Given the description of an element on the screen output the (x, y) to click on. 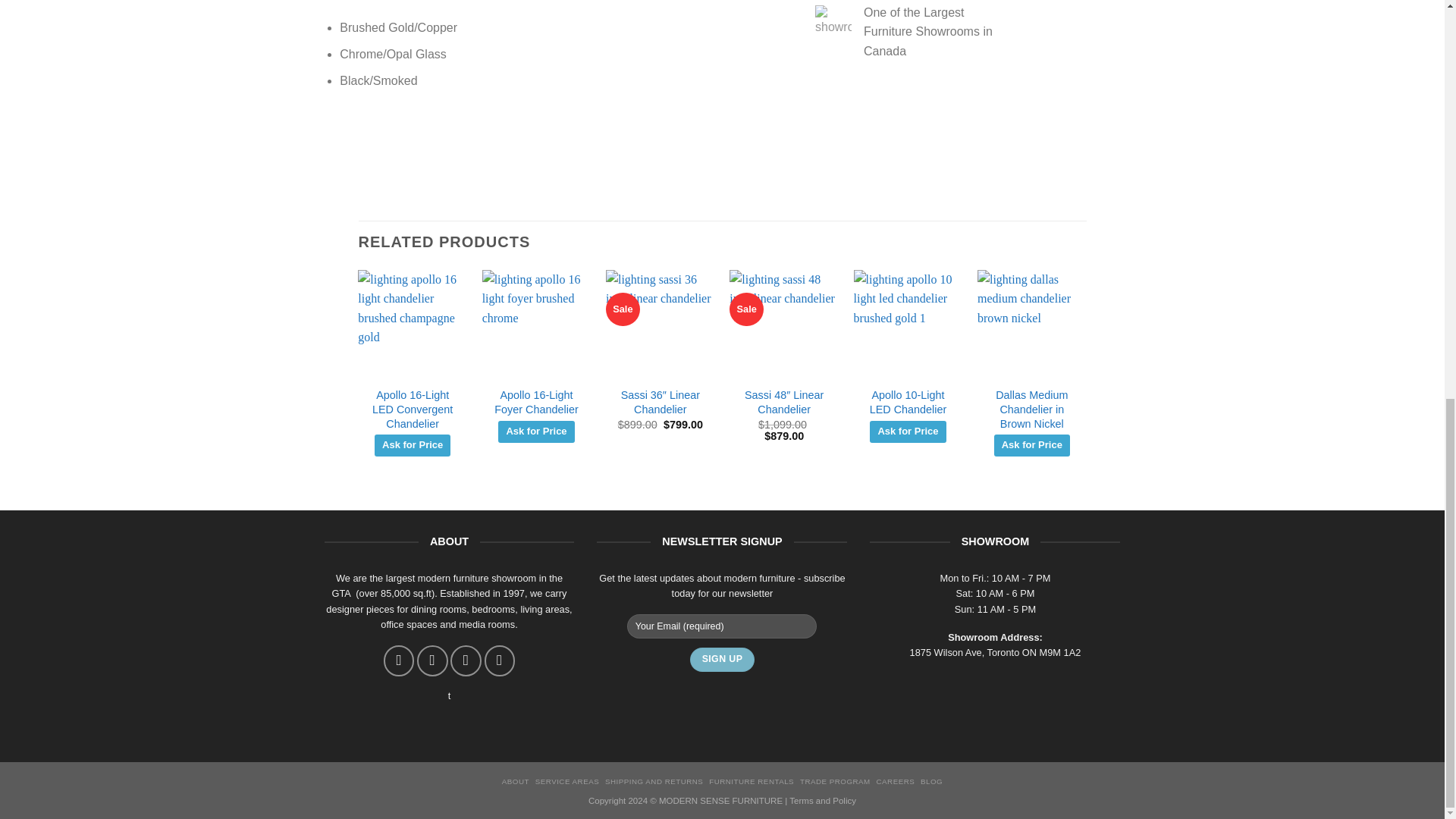
Follow on Instagram (431, 660)
Sign Up (722, 659)
Follow on TikTok (464, 660)
Follow on Facebook (398, 660)
